Given the description of an element on the screen output the (x, y) to click on. 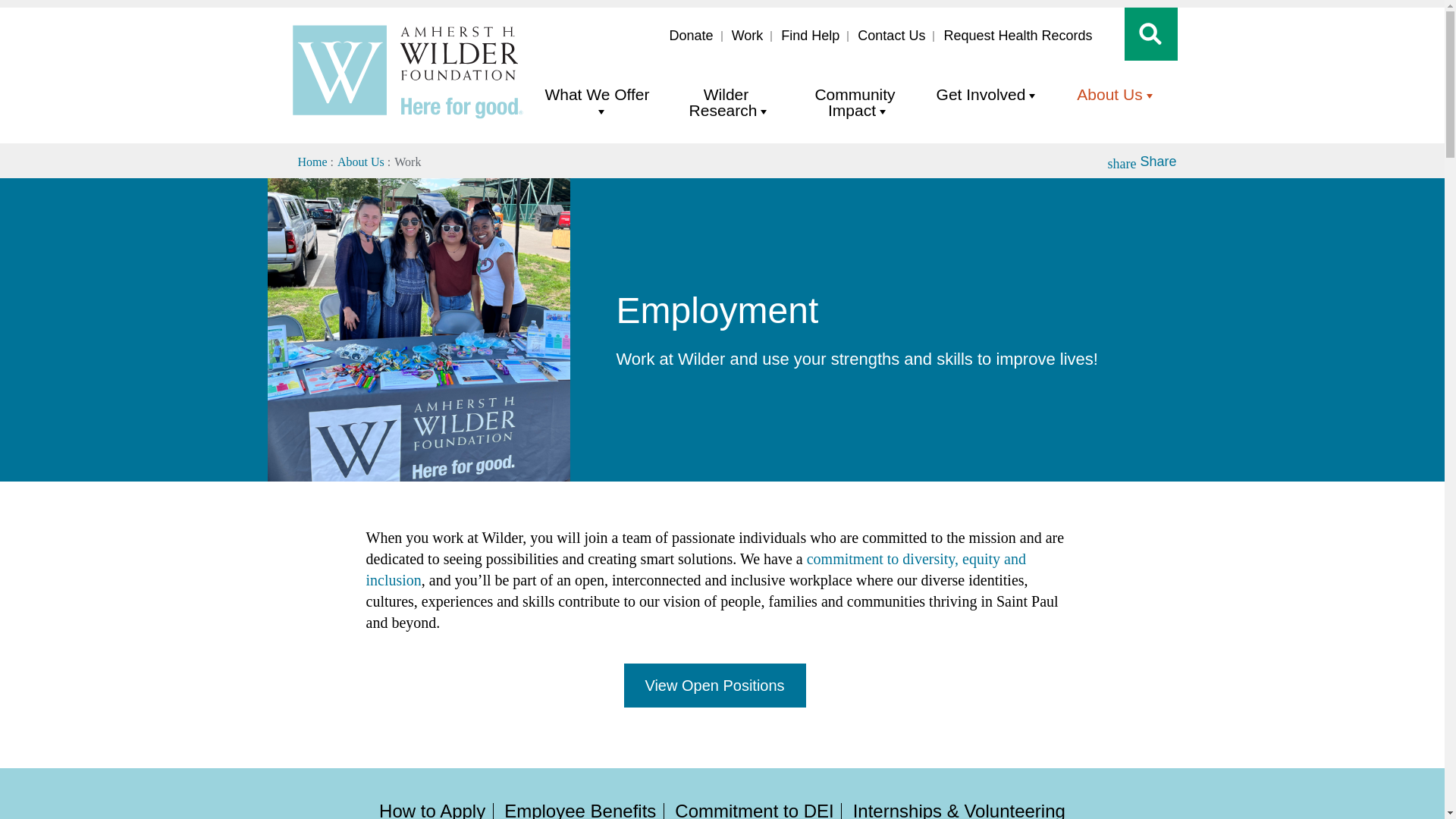
Home (406, 117)
Donate (691, 36)
Find Help (809, 36)
Work (747, 36)
Request Health Records (1017, 36)
What We Offer (596, 102)
Wilder Research (725, 102)
Contact Us (891, 36)
open (1149, 33)
